Given the description of an element on the screen output the (x, y) to click on. 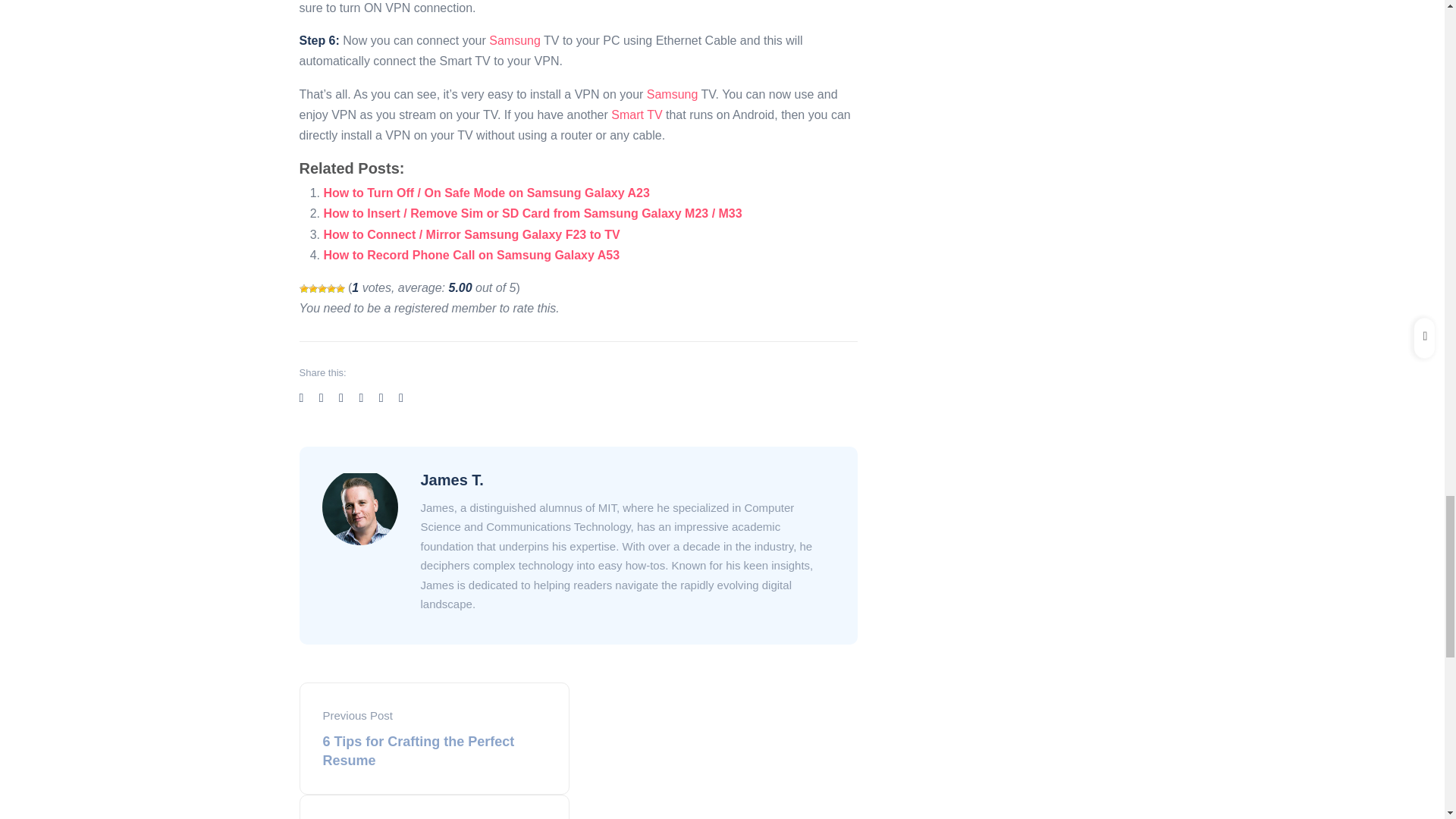
1 vote, average: 5.00 out of 5 (321, 288)
How to Record Phone Call on Samsung Galaxy A53 (471, 254)
1 vote, average: 5.00 out of 5 (330, 288)
1 vote, average: 5.00 out of 5 (312, 288)
1 vote, average: 5.00 out of 5 (302, 288)
